Given the description of an element on the screen output the (x, y) to click on. 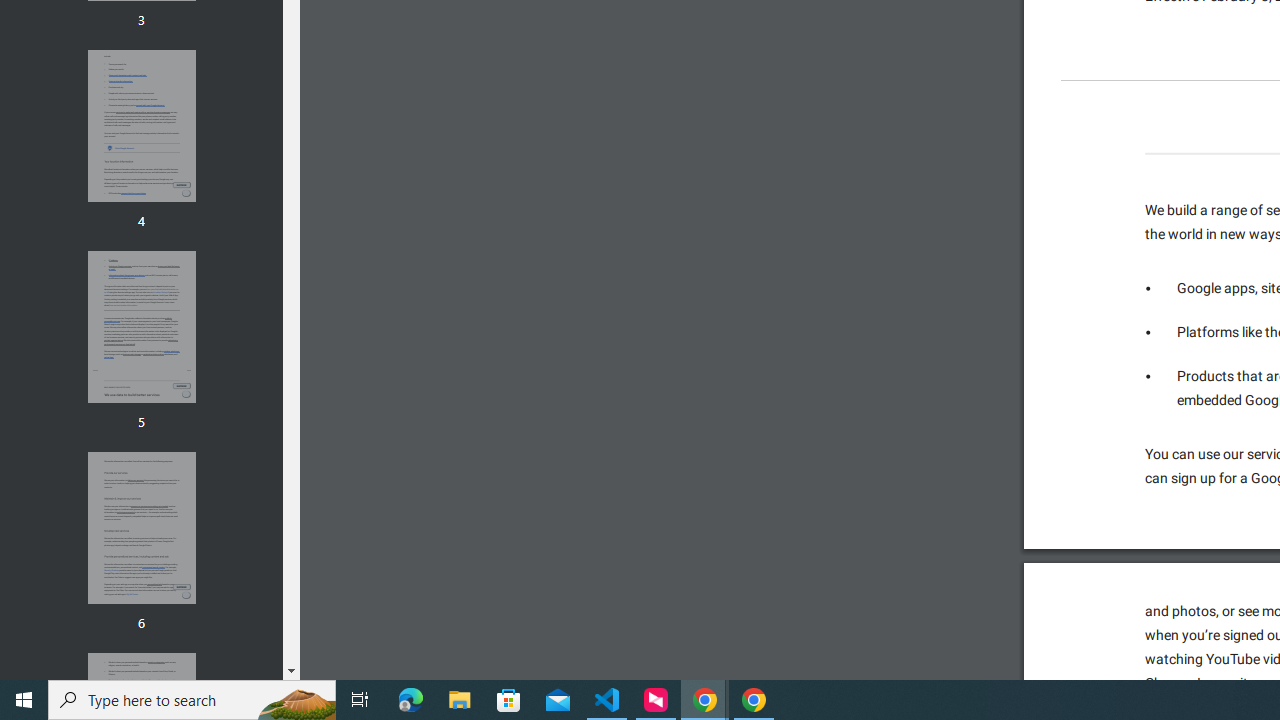
Thumbnail for page 5 (141, 326)
AutomationID: thumbnail (141, 528)
Thumbnail for page 6 (141, 528)
Thumbnail for page 4 (141, 125)
